Given the description of an element on the screen output the (x, y) to click on. 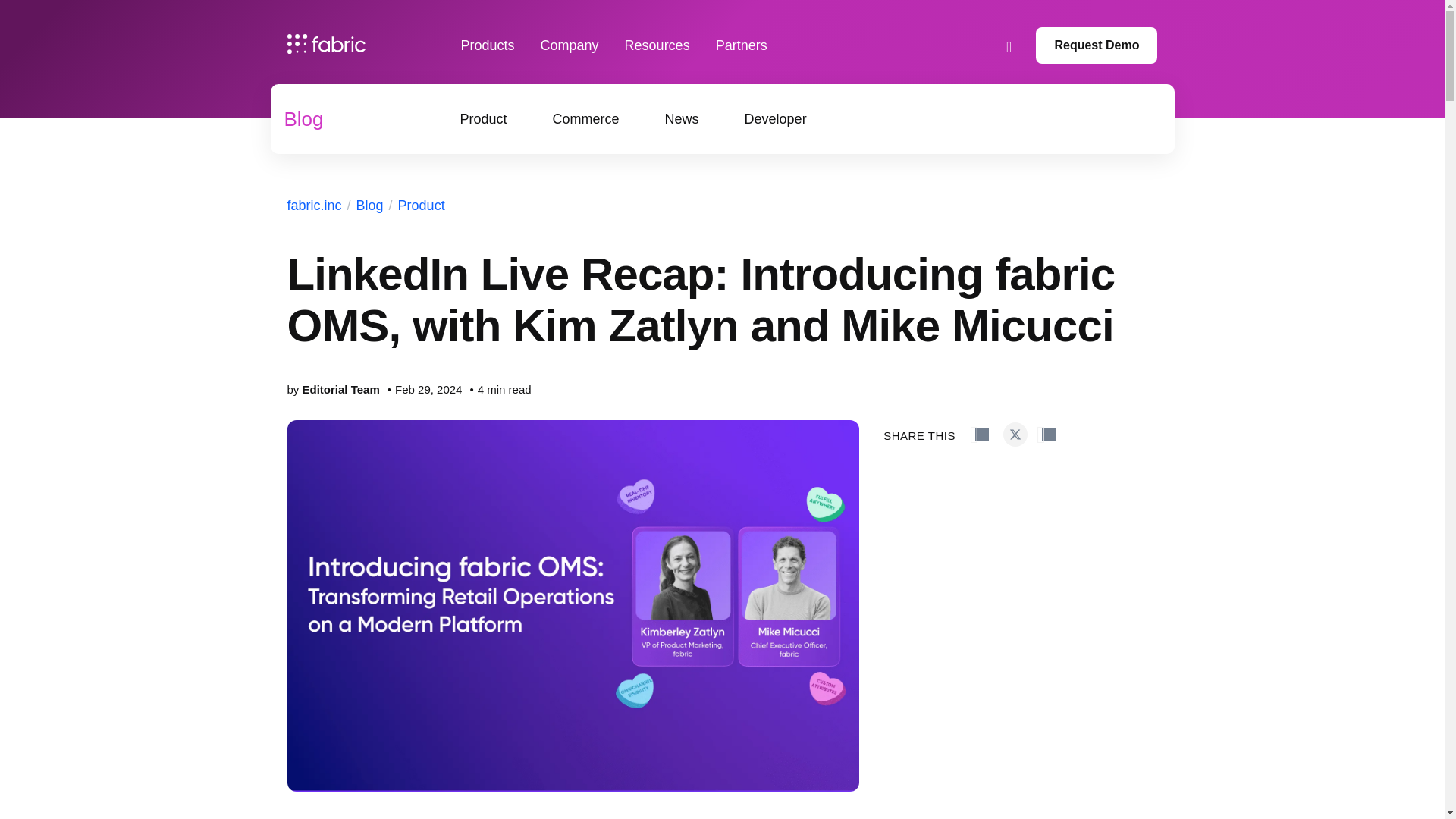
Products (488, 45)
Resources (657, 45)
Company (569, 45)
Partners (741, 45)
Request Demo (1096, 45)
